Given the description of an element on the screen output the (x, y) to click on. 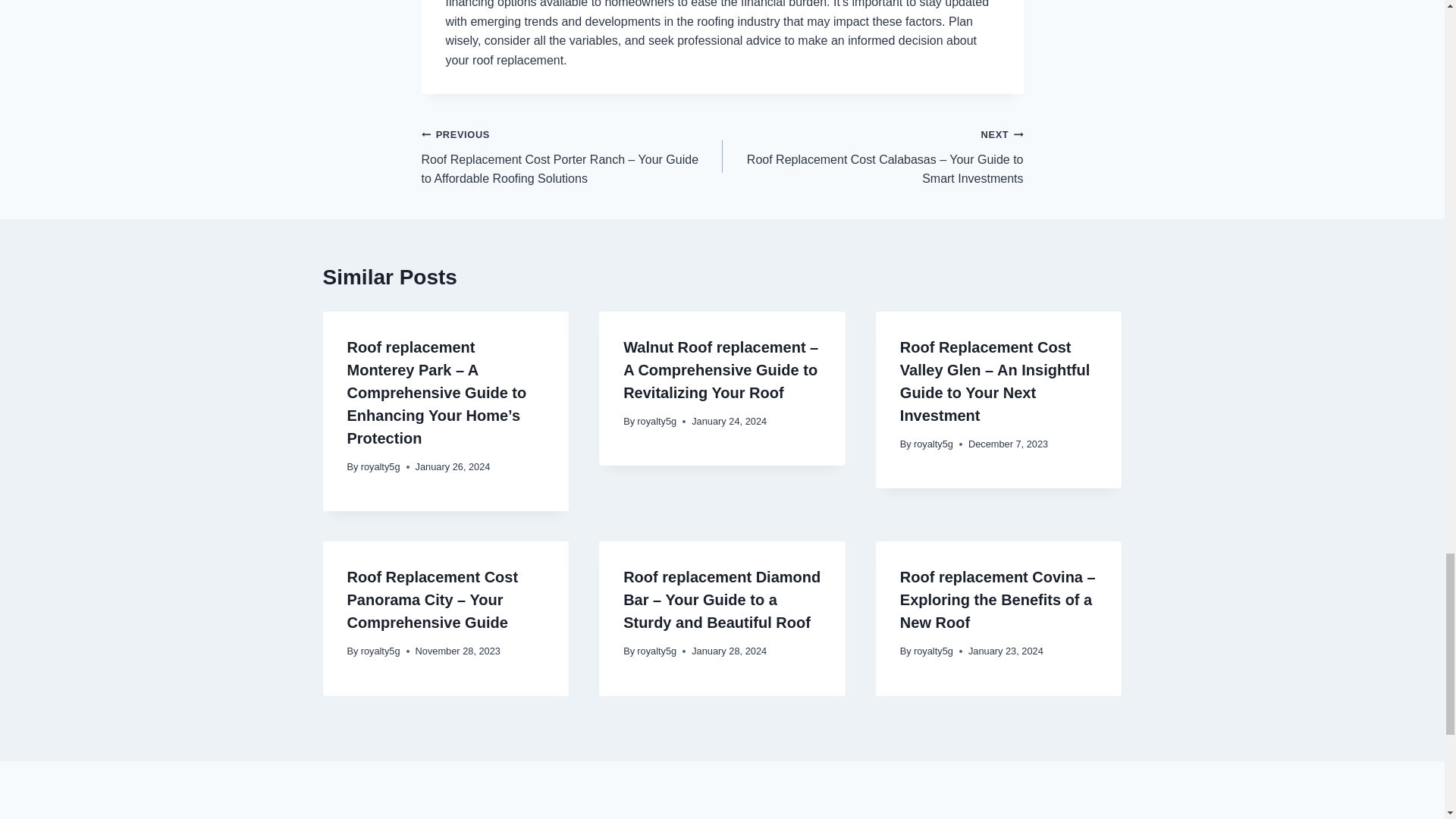
royalty5g (657, 420)
royalty5g (933, 443)
royalty5g (380, 466)
